Given the description of an element on the screen output the (x, y) to click on. 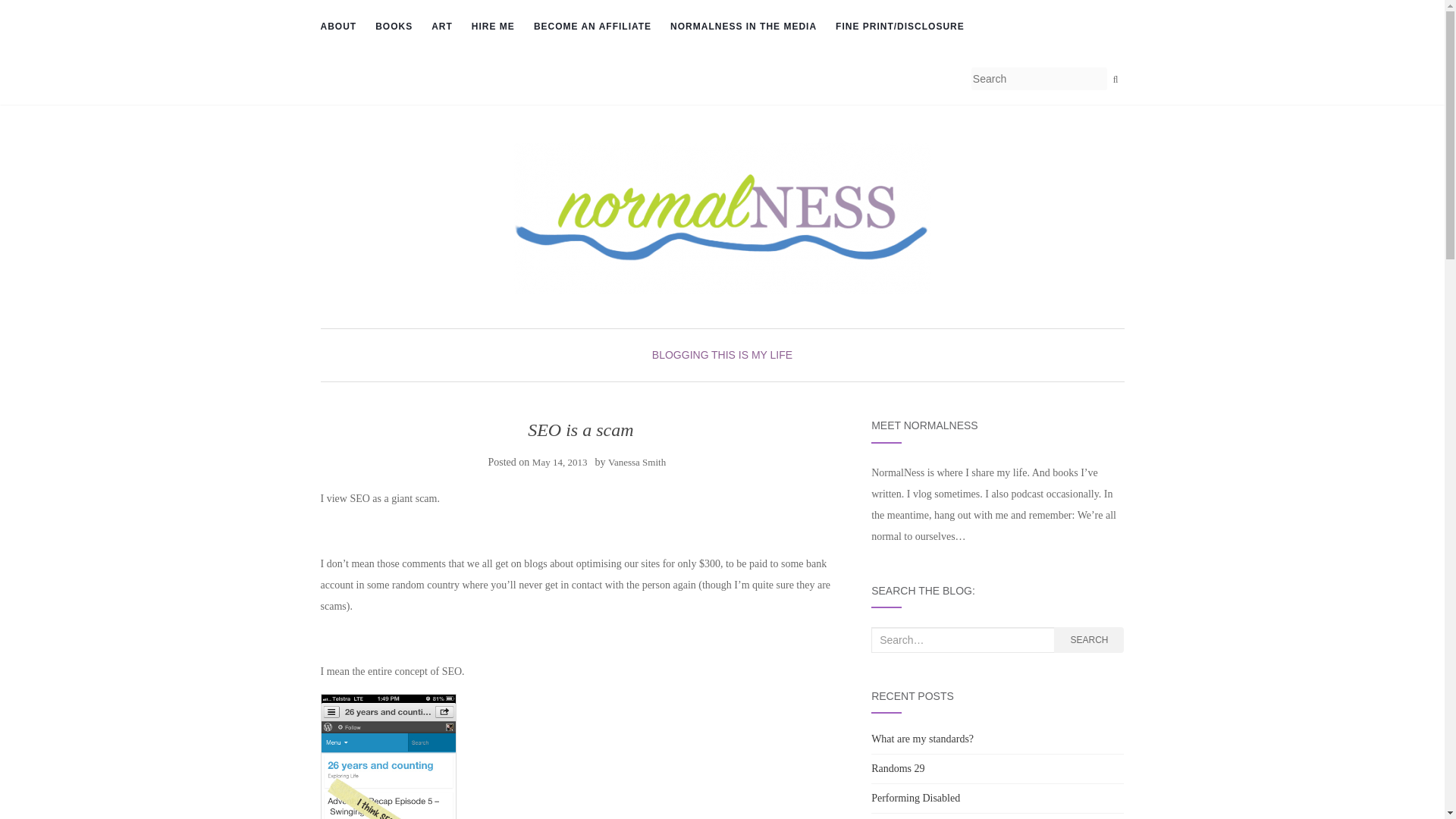
BECOME AN AFFILIATE (592, 27)
May 14, 2013 (560, 461)
Search for: (962, 639)
What are my standards? (922, 738)
Vanessa Smith (636, 461)
BLOGGING (680, 354)
Become an Affiliate (592, 27)
THIS IS MY LIFE (751, 354)
Randoms 29 (897, 767)
NORMALNESS IN THE MEDIA (742, 27)
Performing Disabled (914, 797)
SEARCH (1089, 639)
NormalNess In The Media (742, 27)
